Given the description of an element on the screen output the (x, y) to click on. 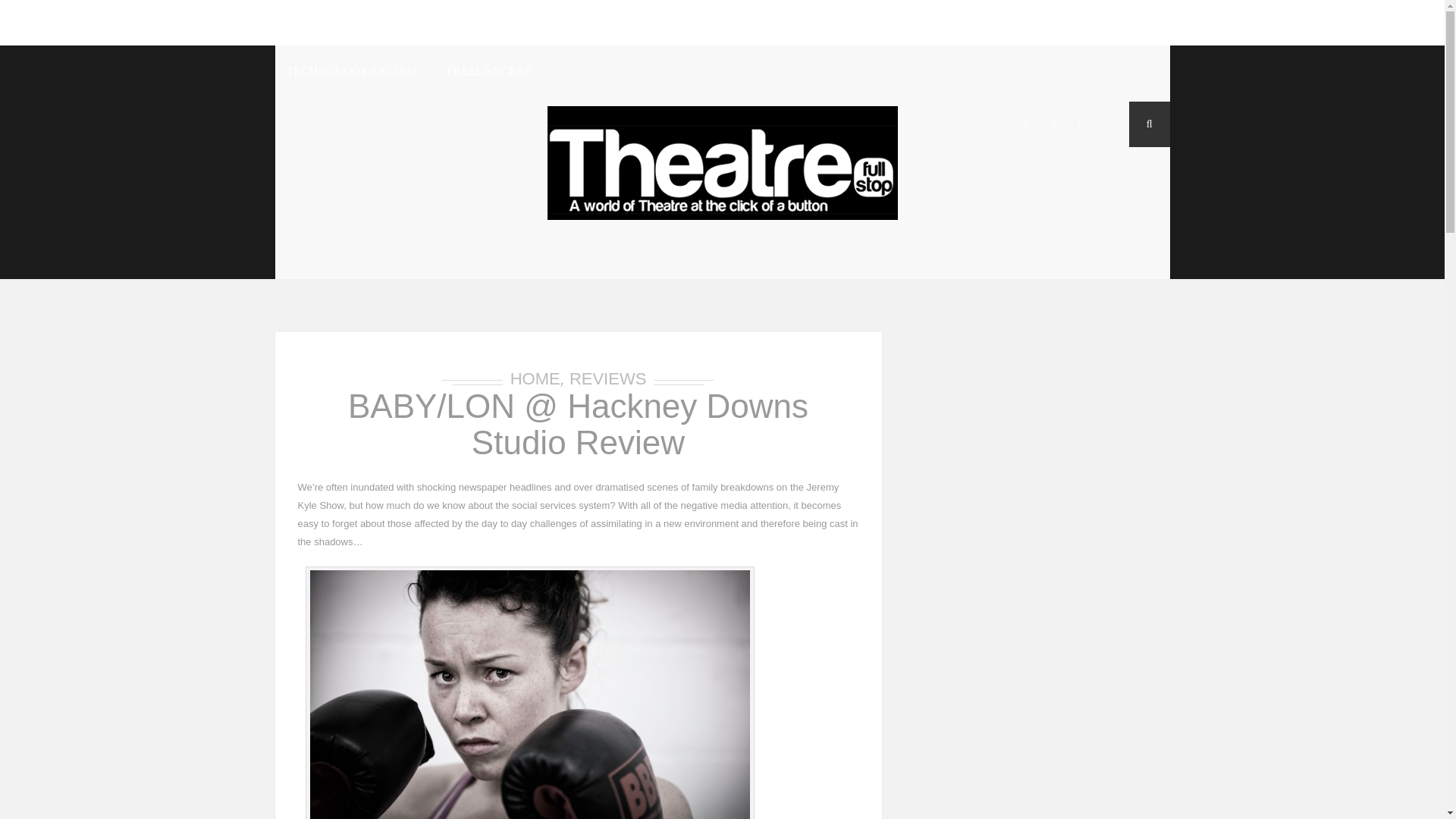
WELLNESS (1027, 22)
REVIEWS (429, 22)
INTERVIEWS (519, 22)
HOME (298, 22)
ARTICLES (609, 22)
ABOUT (356, 22)
COMPETITIONS (852, 22)
FREELANCERS (487, 72)
EVENTS (946, 22)
